Given the description of an element on the screen output the (x, y) to click on. 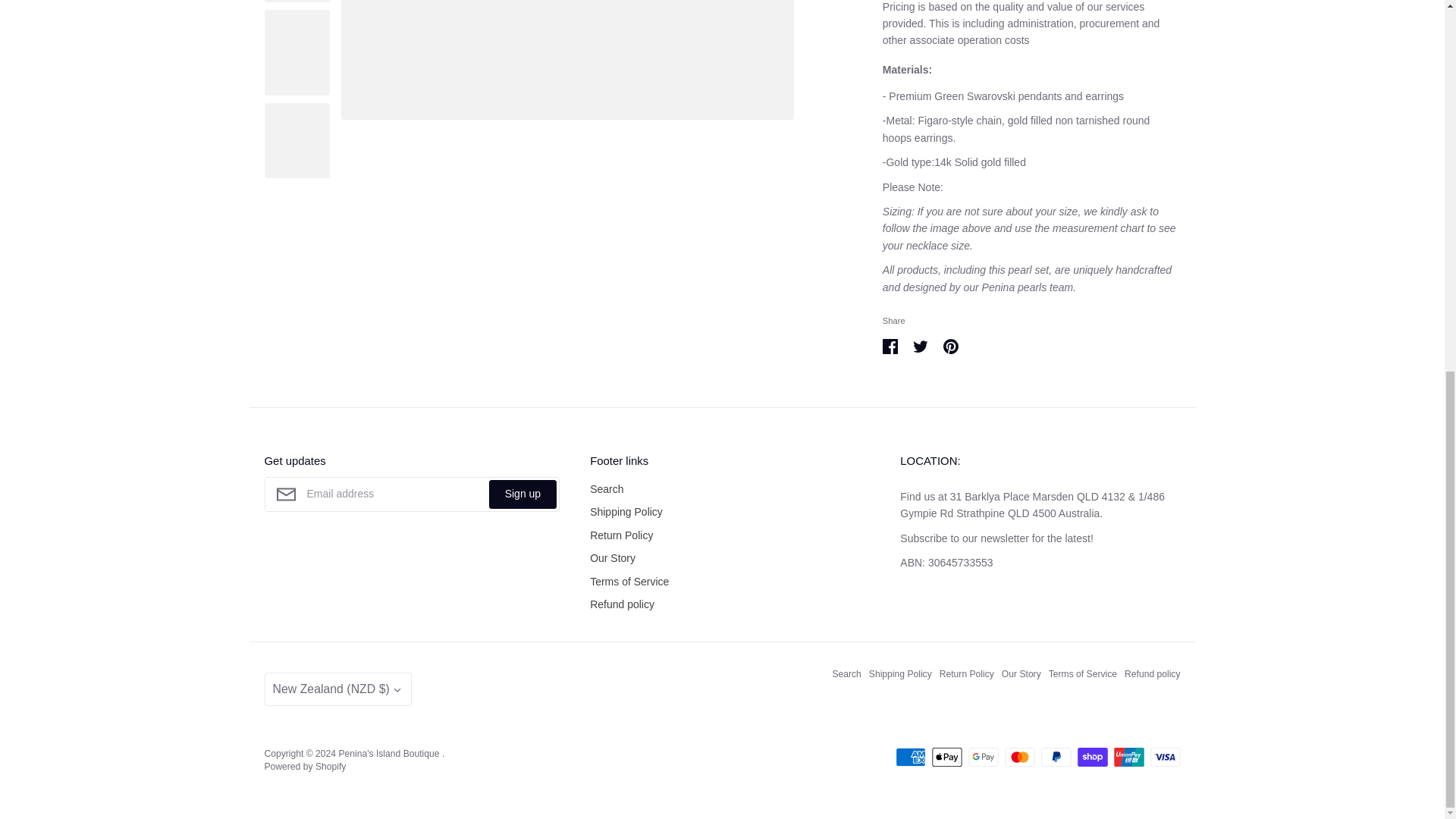
Union Pay (1128, 756)
American Express (910, 756)
Visa (1164, 756)
Mastercard (1019, 756)
Apple Pay (946, 756)
PayPal (1056, 756)
Shop Pay (1092, 756)
Google Pay (983, 756)
